Given the description of an element on the screen output the (x, y) to click on. 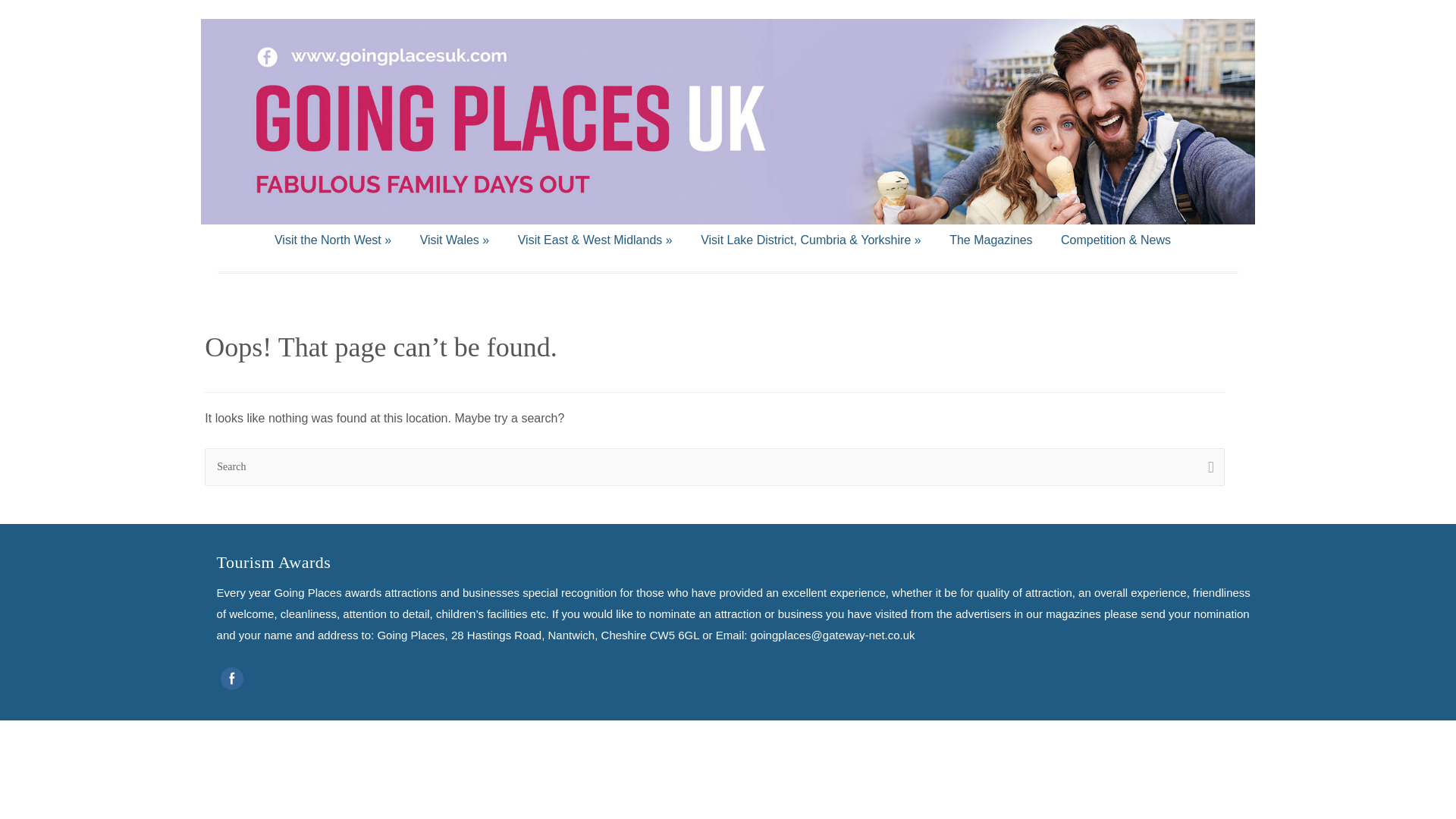
Search (1207, 466)
Search (714, 466)
Facebook (231, 677)
